Given the description of an element on the screen output the (x, y) to click on. 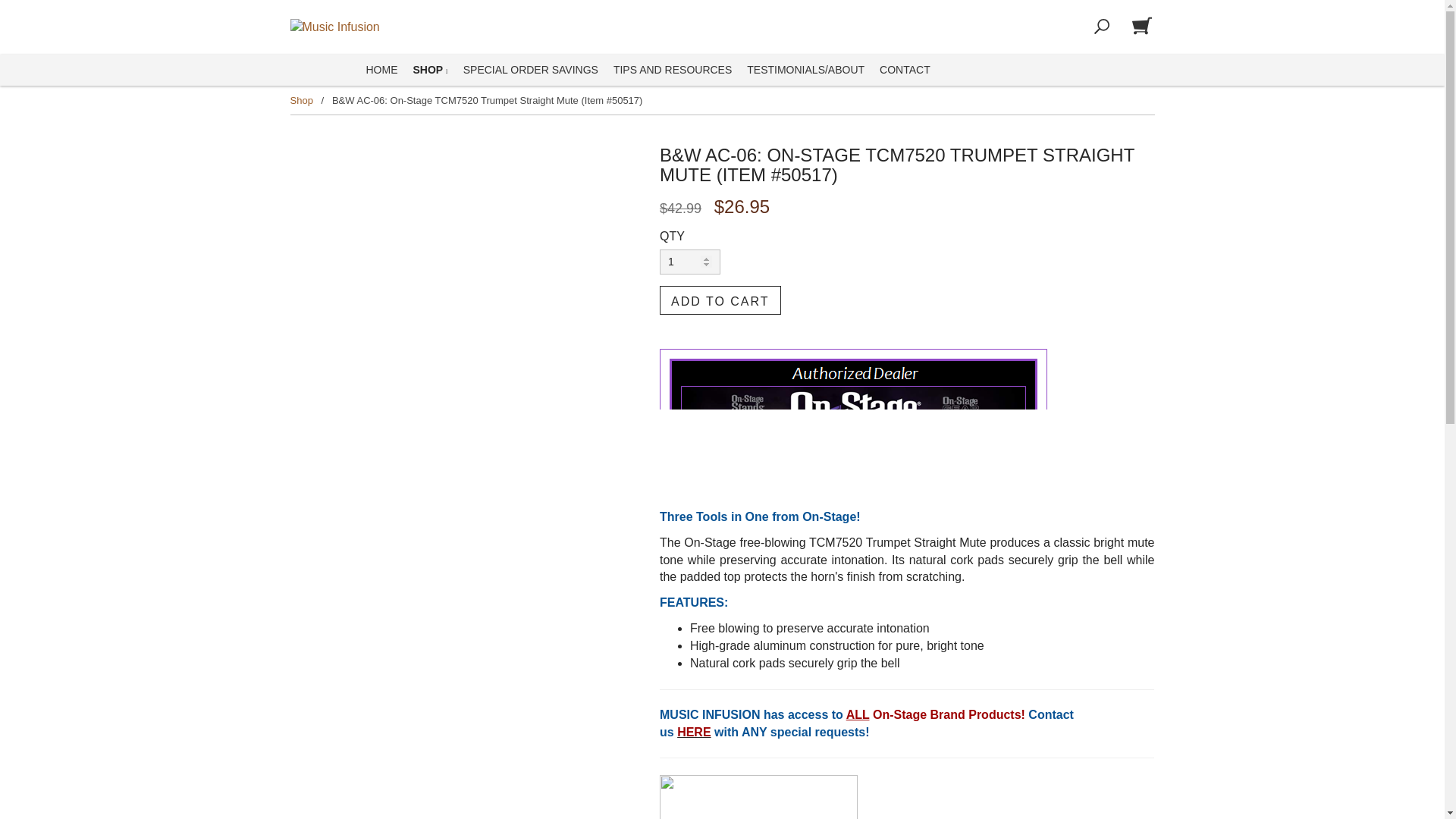
Shop (301, 100)
HOME (381, 69)
Add to Cart (719, 299)
CONTACT (904, 69)
TIPS AND RESOURCES (672, 69)
SHOP (429, 69)
HERE (693, 730)
Add to Cart (719, 299)
1 (689, 261)
SPECIAL ORDER SAVINGS (530, 69)
